Given the description of an element on the screen output the (x, y) to click on. 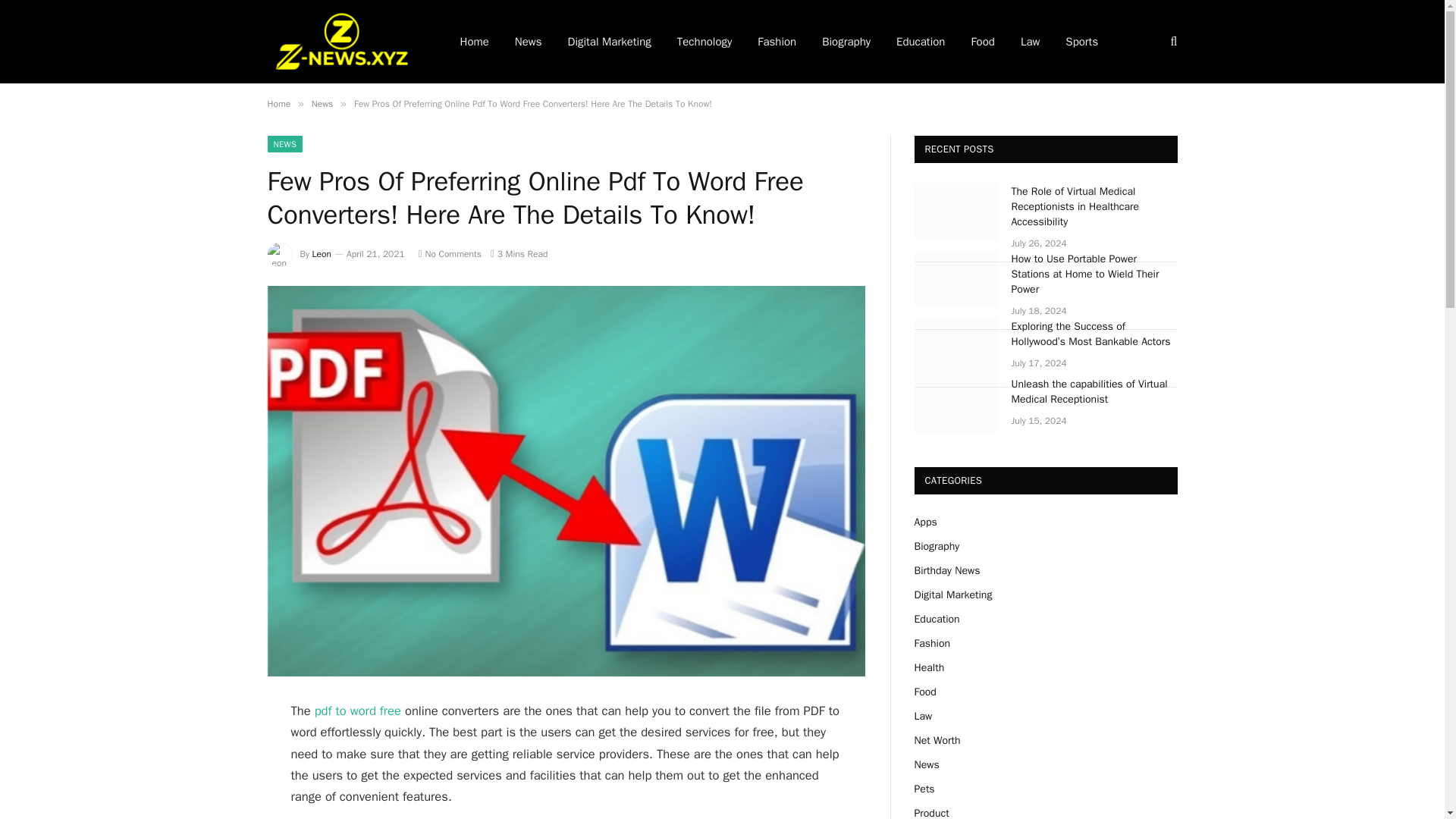
Technology (704, 41)
Home (277, 103)
No Comments (450, 254)
Leon (322, 254)
Digital Marketing (608, 41)
Posts by Leon (322, 254)
Unleash the capabilities of Virtual Medical Receptionist (955, 404)
pdf to word free  (359, 710)
Education (920, 41)
News (322, 103)
Biography (846, 41)
